Given the description of an element on the screen output the (x, y) to click on. 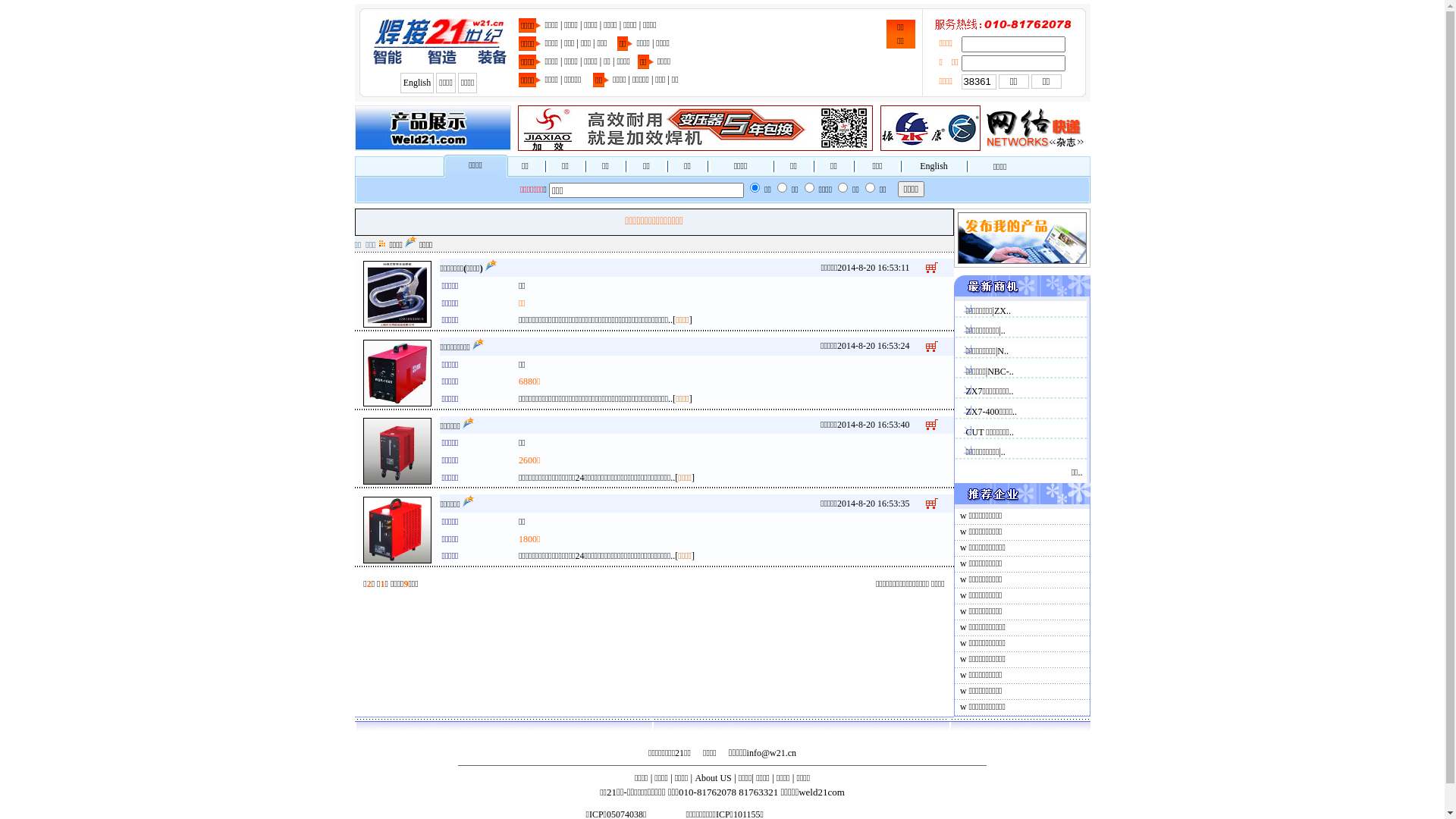
English Element type: text (933, 165)
English Element type: text (417, 82)
About US Element type: text (712, 777)
info@w21.cn Element type: text (771, 752)
